Given the description of an element on the screen output the (x, y) to click on. 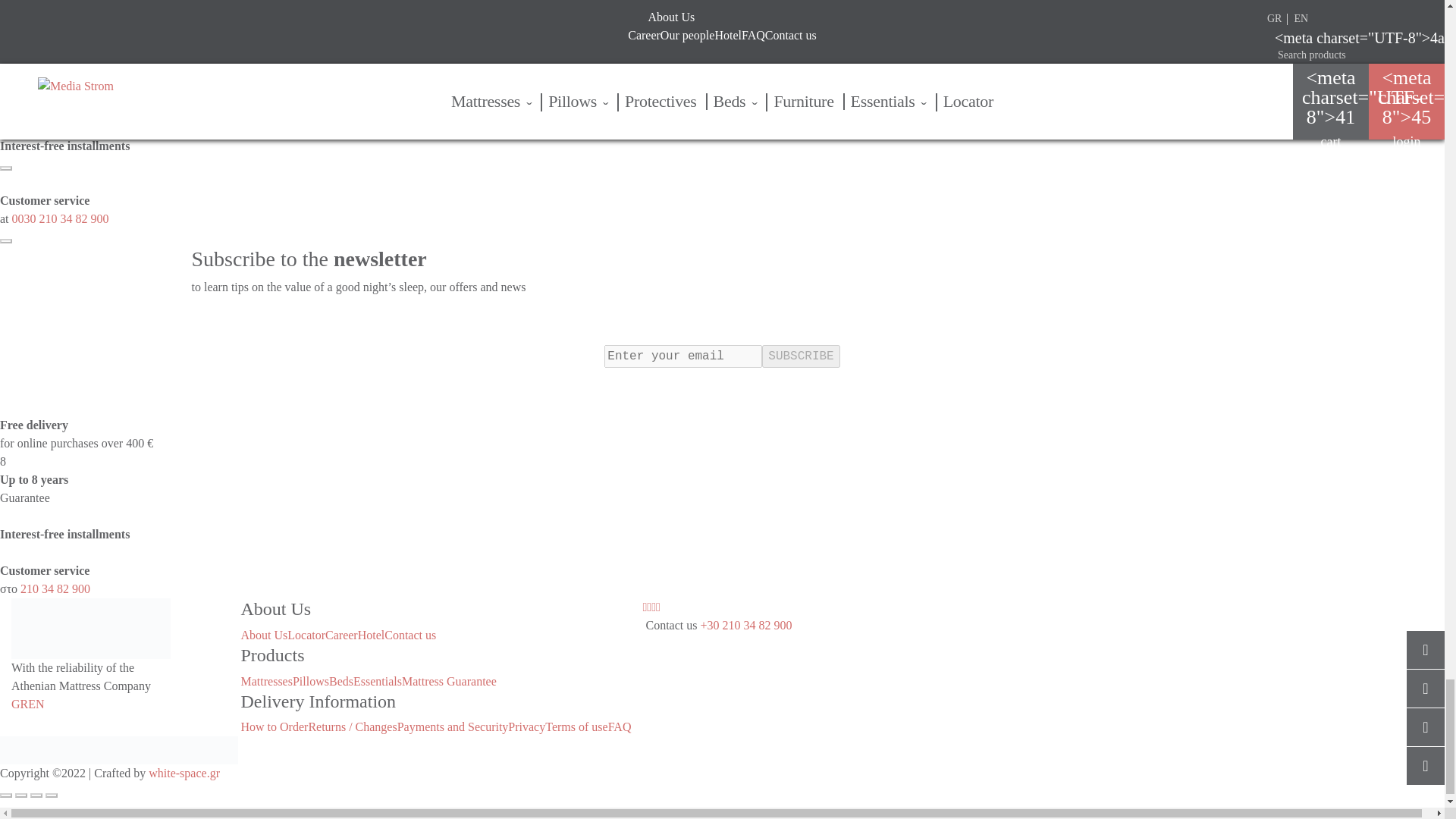
SUBSCRIBE (800, 355)
